Given the description of an element on the screen output the (x, y) to click on. 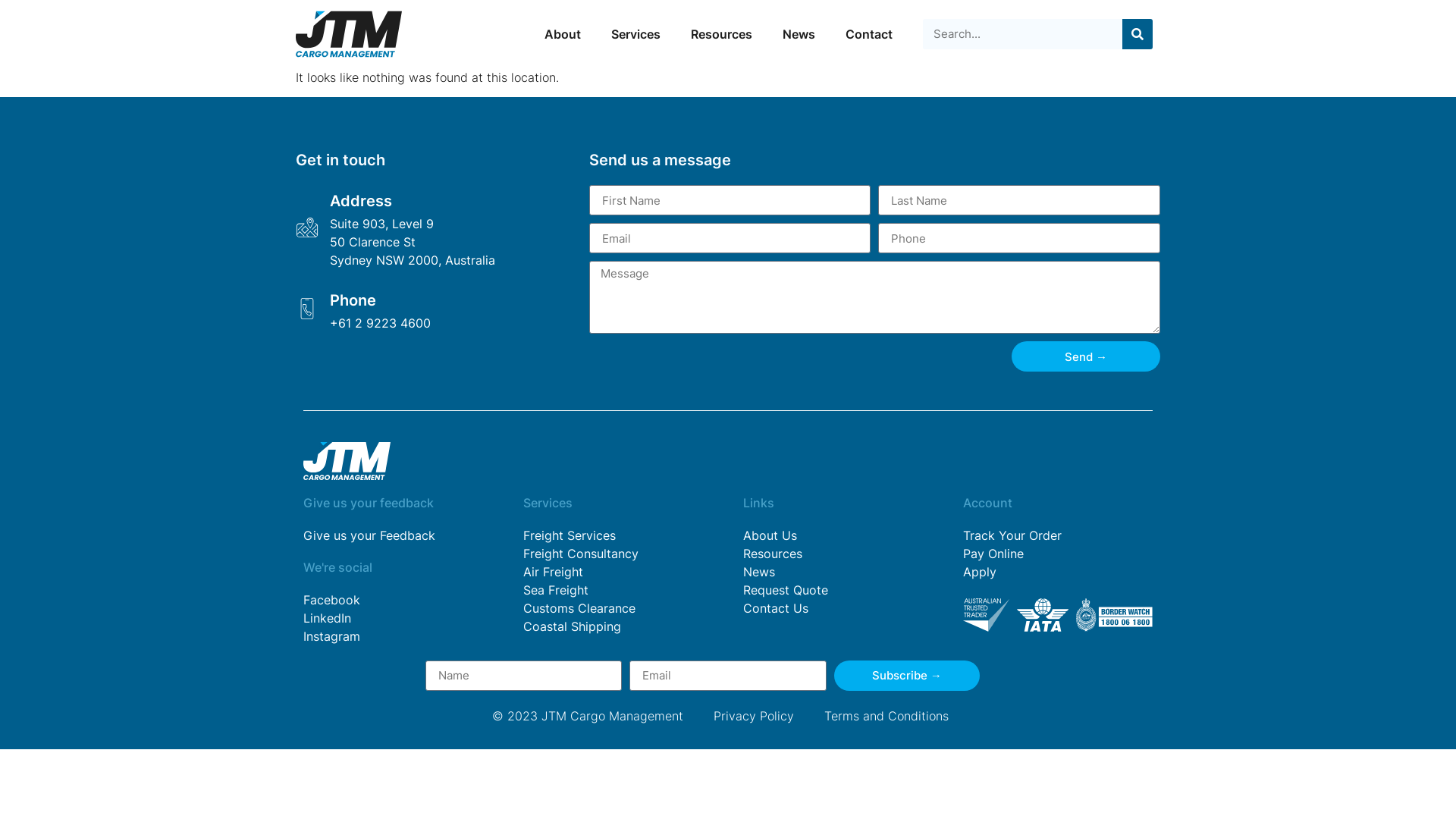
Apply Element type: text (1057, 571)
Sea Freight Element type: text (617, 589)
News Element type: text (798, 34)
Resources Element type: text (721, 34)
Coastal Shipping Element type: text (617, 626)
Contact Element type: text (868, 34)
Contact Us Element type: text (837, 608)
Request Quote Element type: text (837, 589)
About Us Element type: text (837, 535)
News Element type: text (837, 571)
Freight Consultancy Element type: text (617, 553)
Air Freight Element type: text (617, 571)
Give us your Feedback Element type: text (397, 535)
Facebook Element type: text (397, 599)
Customs Clearance Element type: text (617, 608)
Pay Online Element type: text (1057, 553)
Terms and Conditions Element type: text (886, 716)
Services Element type: text (635, 34)
Instagram Element type: text (397, 636)
Privacy Policy Element type: text (753, 716)
Track Your Order Element type: text (1057, 535)
Resources Element type: text (837, 553)
About Element type: text (562, 34)
LinkedIn Element type: text (397, 617)
Freight Services Element type: text (617, 535)
